Given the description of an element on the screen output the (x, y) to click on. 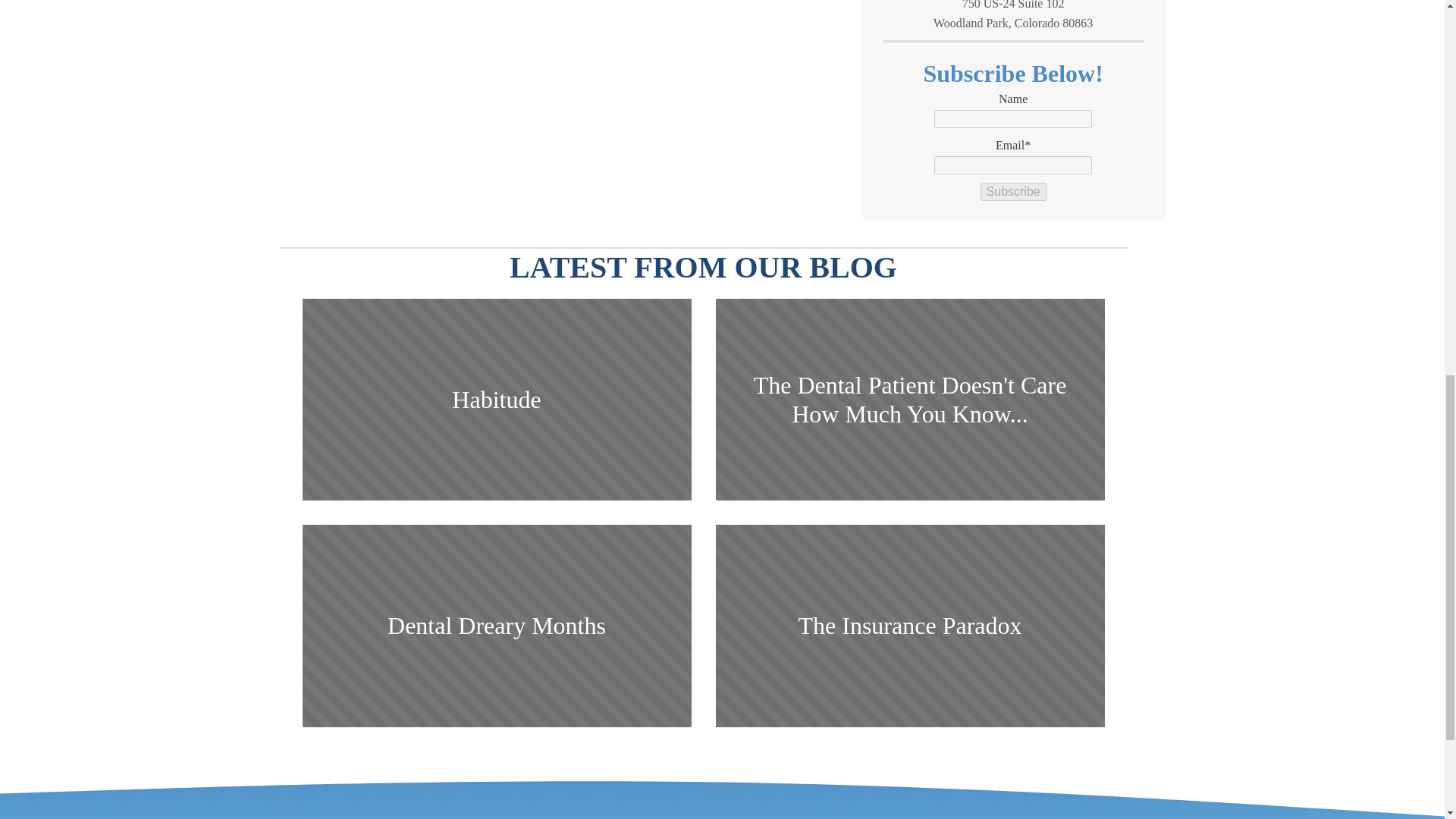
Subscribe (1012, 191)
LATEST FROM OUR BLOG (702, 267)
Subscribe (1012, 191)
The Dental Patient Doesn't Care How Much You Know... (909, 399)
The Insurance Paradox (909, 625)
Dental Dreary Months (496, 625)
Habitude (496, 399)
